Given the description of an element on the screen output the (x, y) to click on. 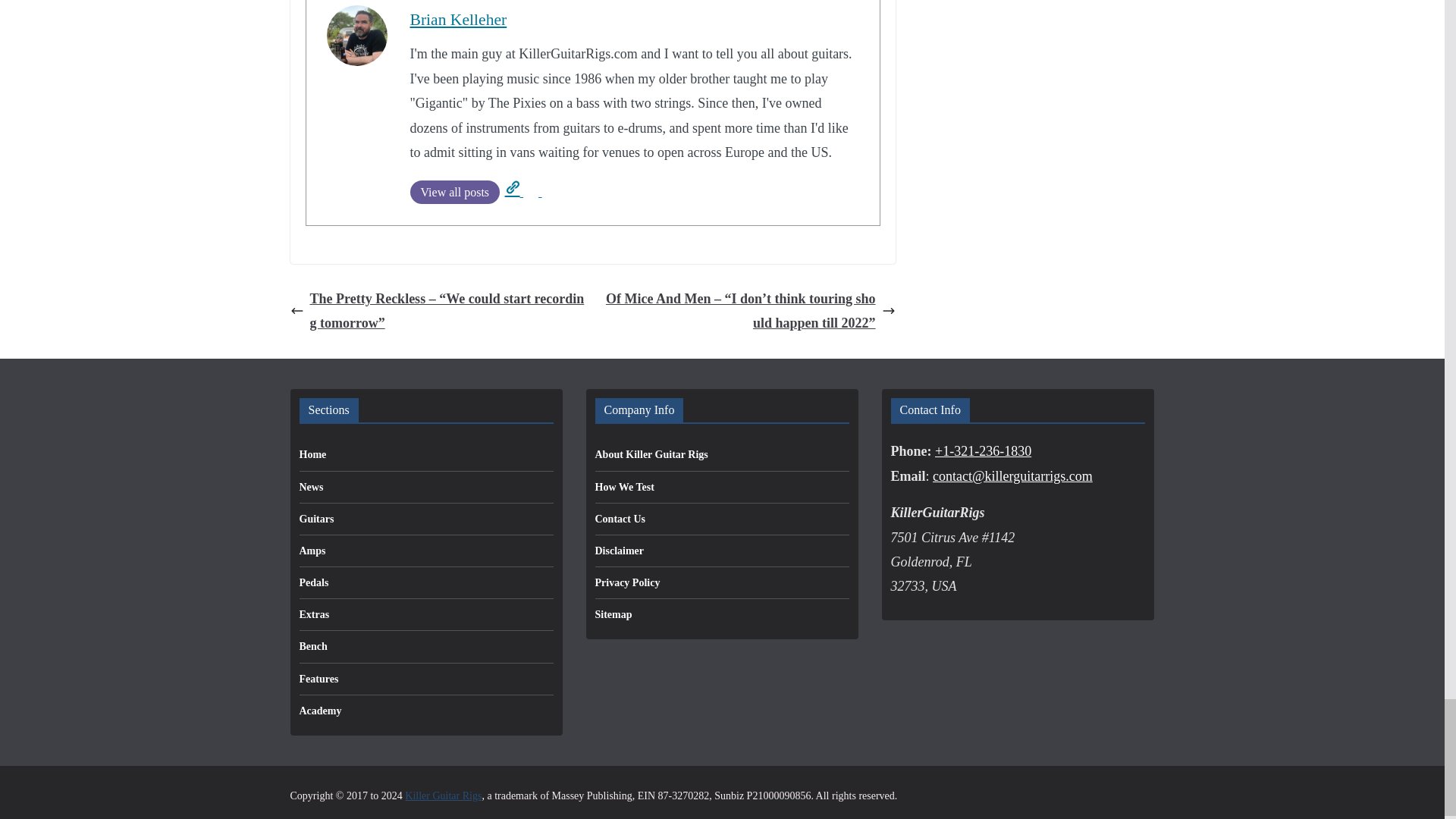
Killer Guitar Rigs (442, 795)
Brian Kelleher (457, 19)
View all posts (454, 191)
